Given the description of an element on the screen output the (x, y) to click on. 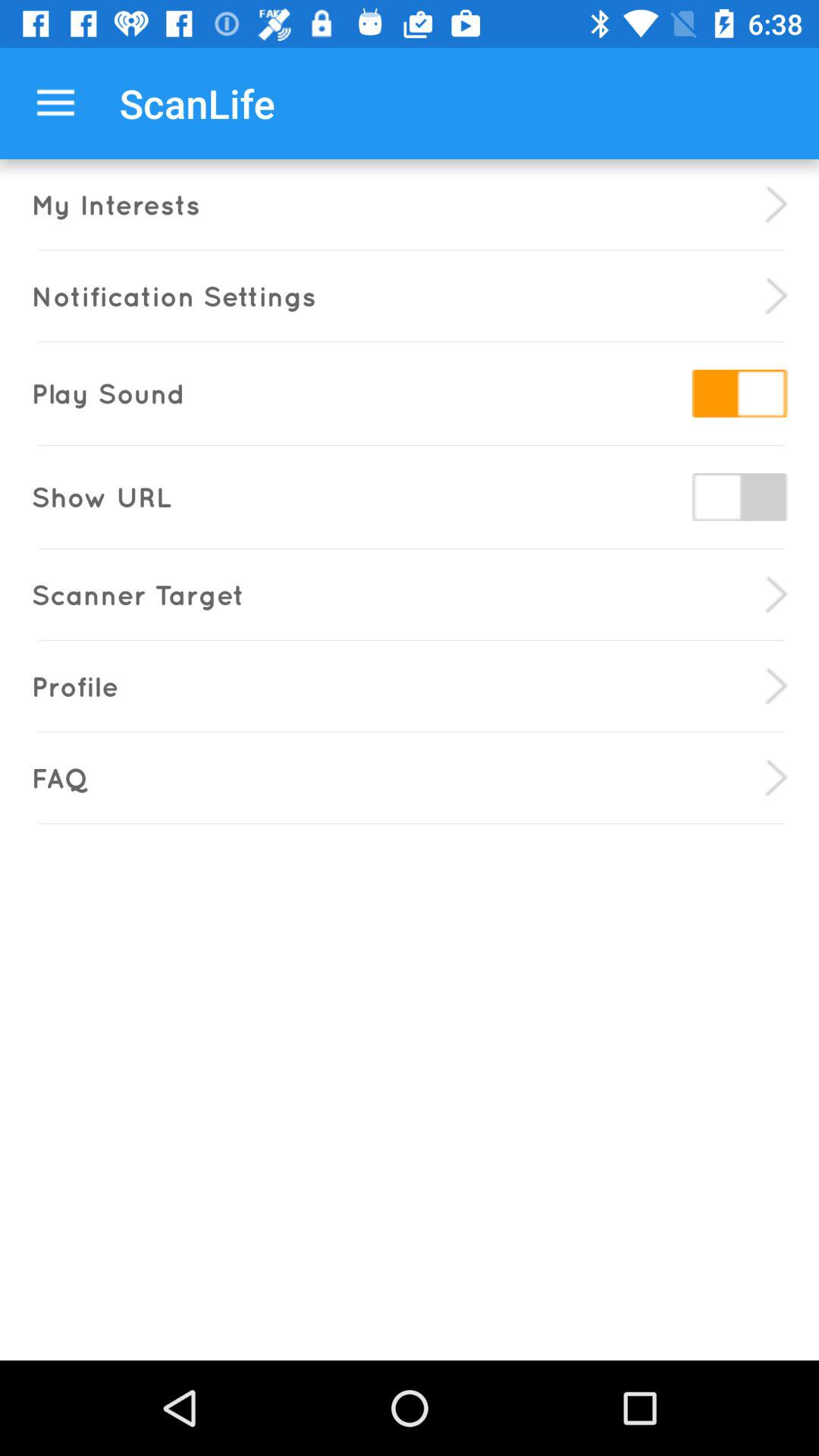
switch sound (739, 393)
